Given the description of an element on the screen output the (x, y) to click on. 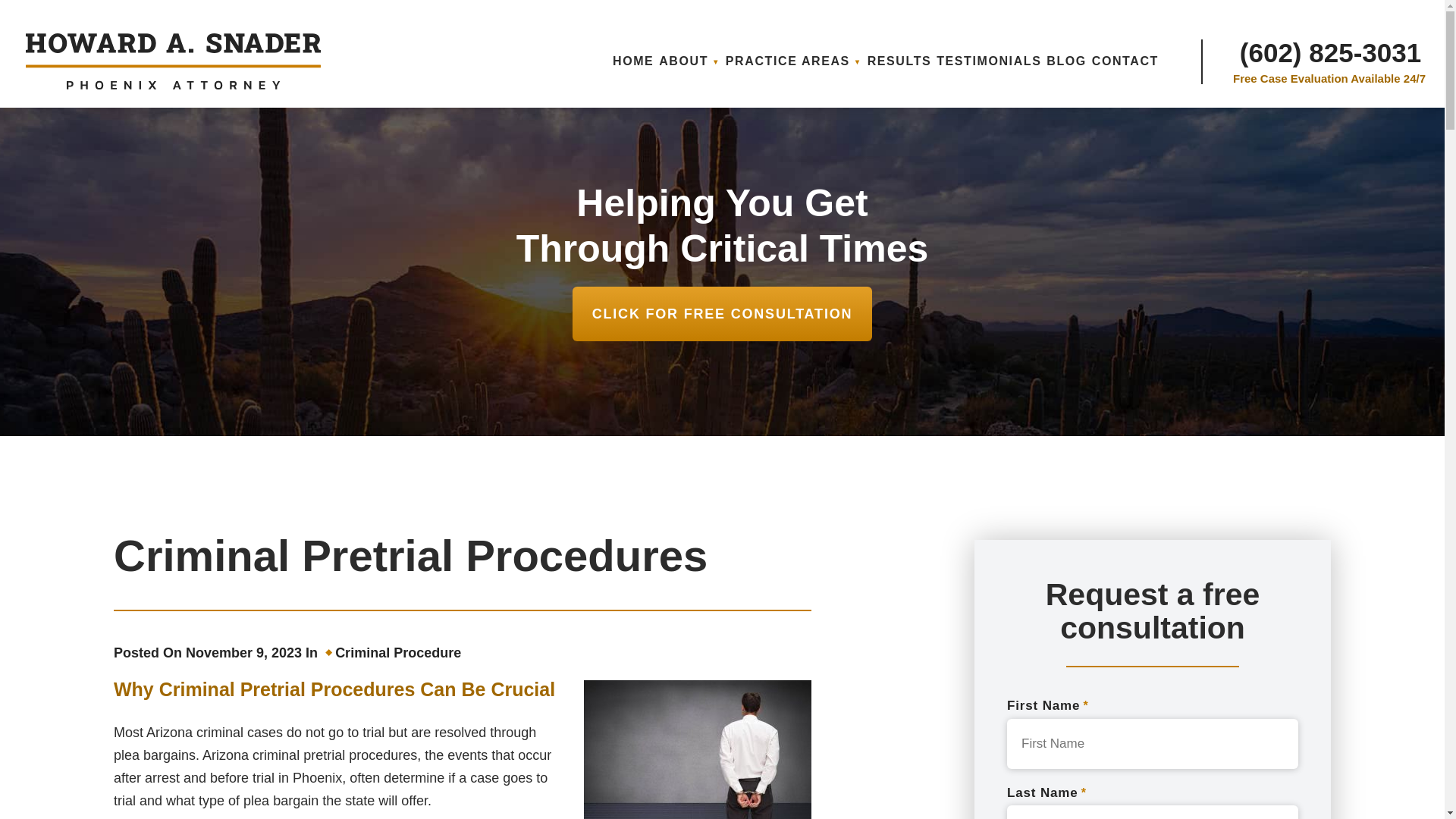
ABOUT (689, 60)
CONTACT (1125, 60)
Criminal Procedure (397, 652)
RESULTS (899, 60)
PRACTICE AREAS (793, 60)
TESTIMONIALS (988, 60)
HOME (632, 60)
CLICK FOR FREE CONSULTATION (722, 313)
BLOG (1066, 60)
